Given the description of an element on the screen output the (x, y) to click on. 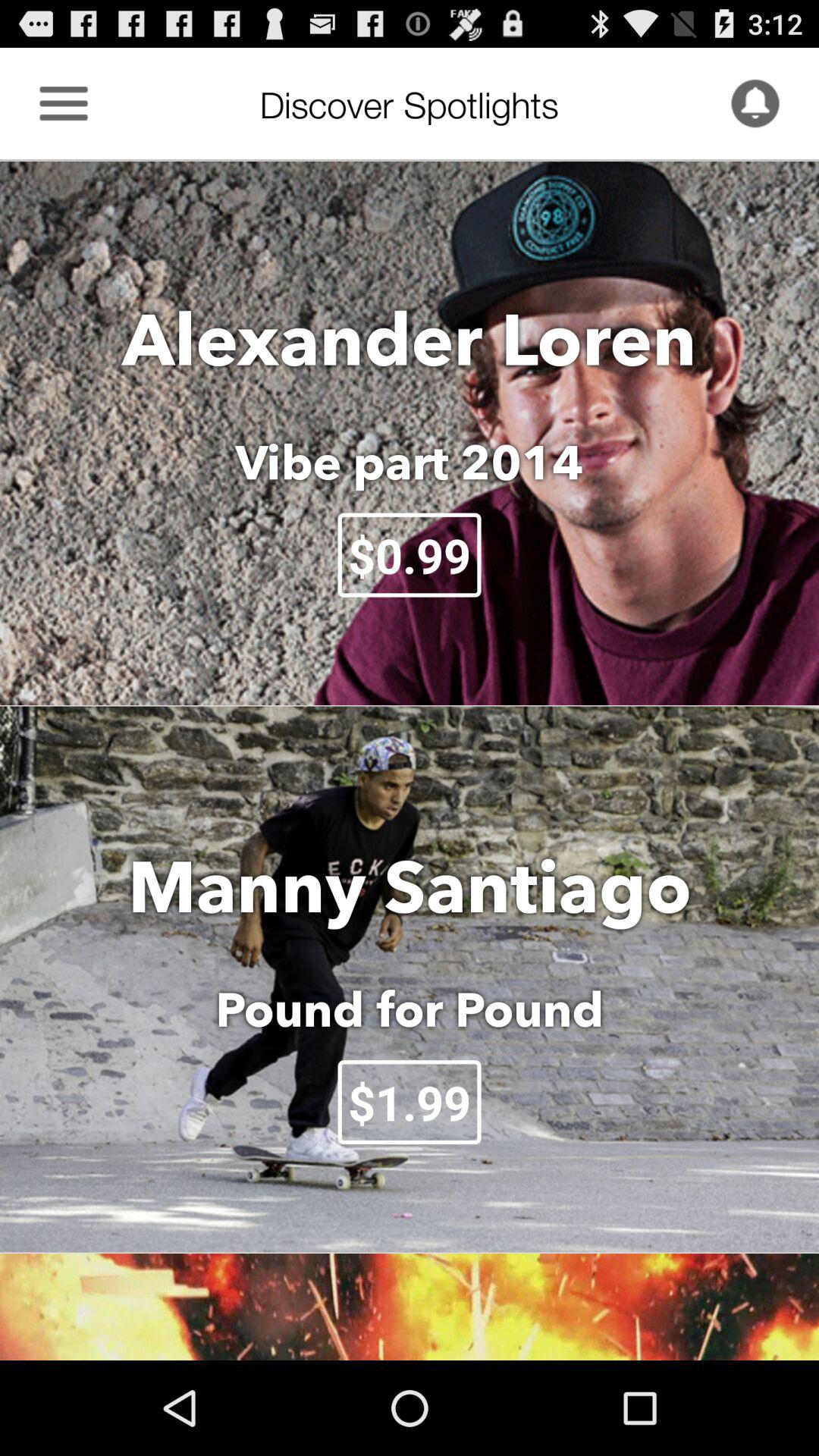
press the icon next to discover spotlights icon (63, 103)
